Given the description of an element on the screen output the (x, y) to click on. 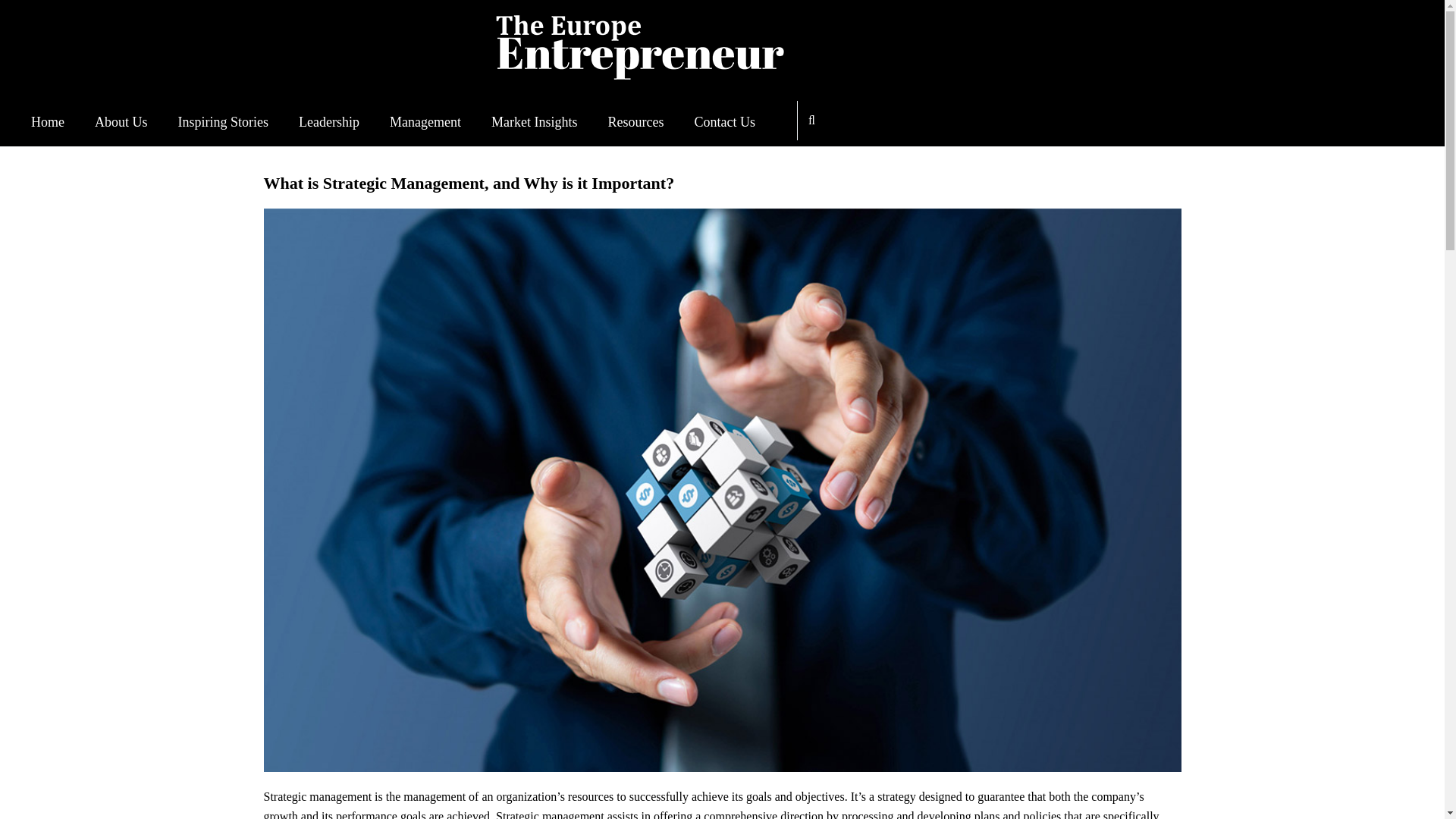
Management (425, 120)
Inspiring Stories (223, 120)
Contact Us (724, 120)
Leadership (328, 120)
About Us (121, 120)
Market Insights (534, 120)
Resources (635, 120)
Home (47, 120)
